Given the description of an element on the screen output the (x, y) to click on. 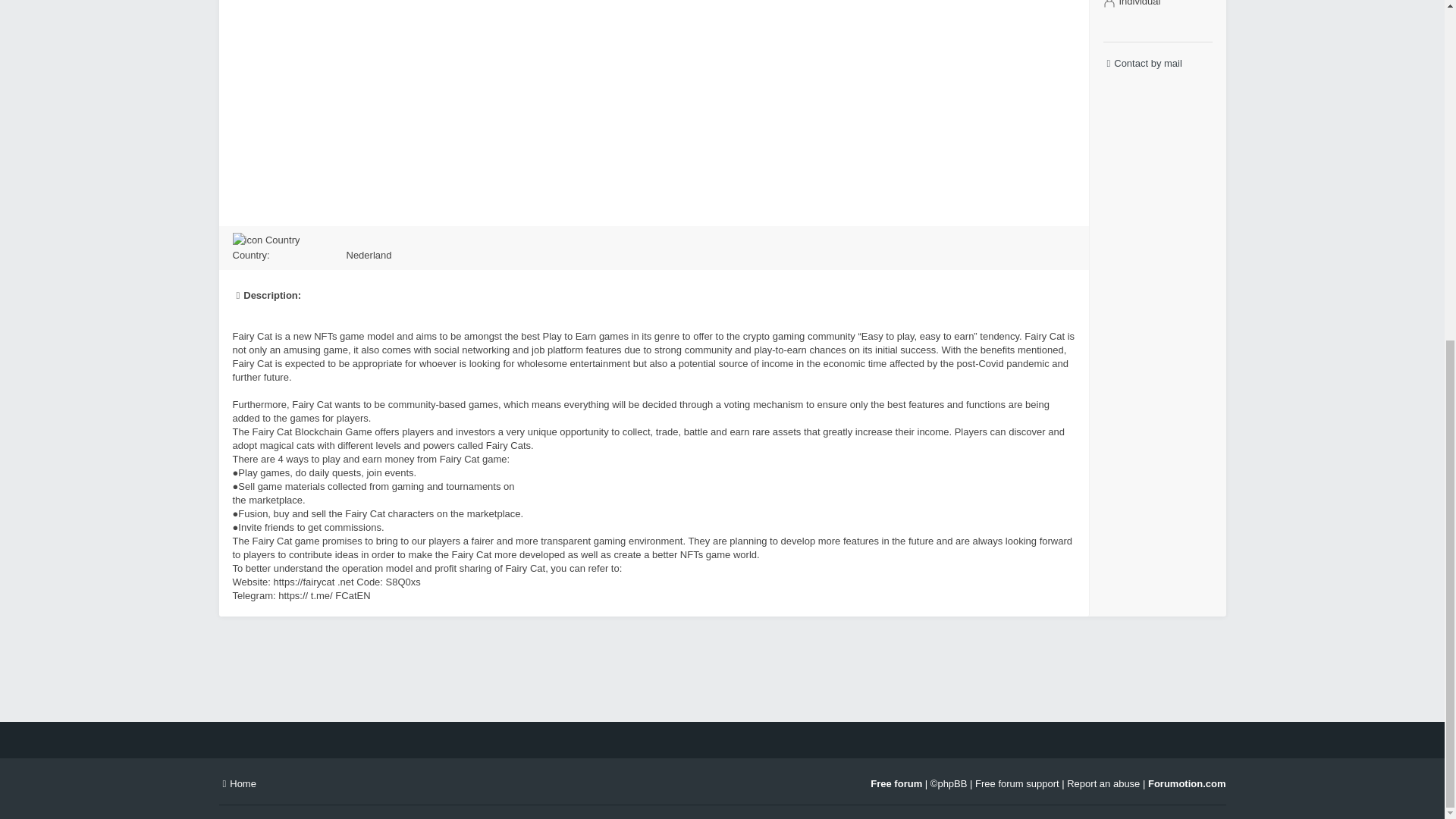
Free forum support (1017, 783)
Forumotion.com (1186, 783)
Contact by mail (1156, 63)
phpBB (951, 783)
Free forum (895, 783)
Report an abuse (1103, 783)
Home (237, 783)
